Given the description of an element on the screen output the (x, y) to click on. 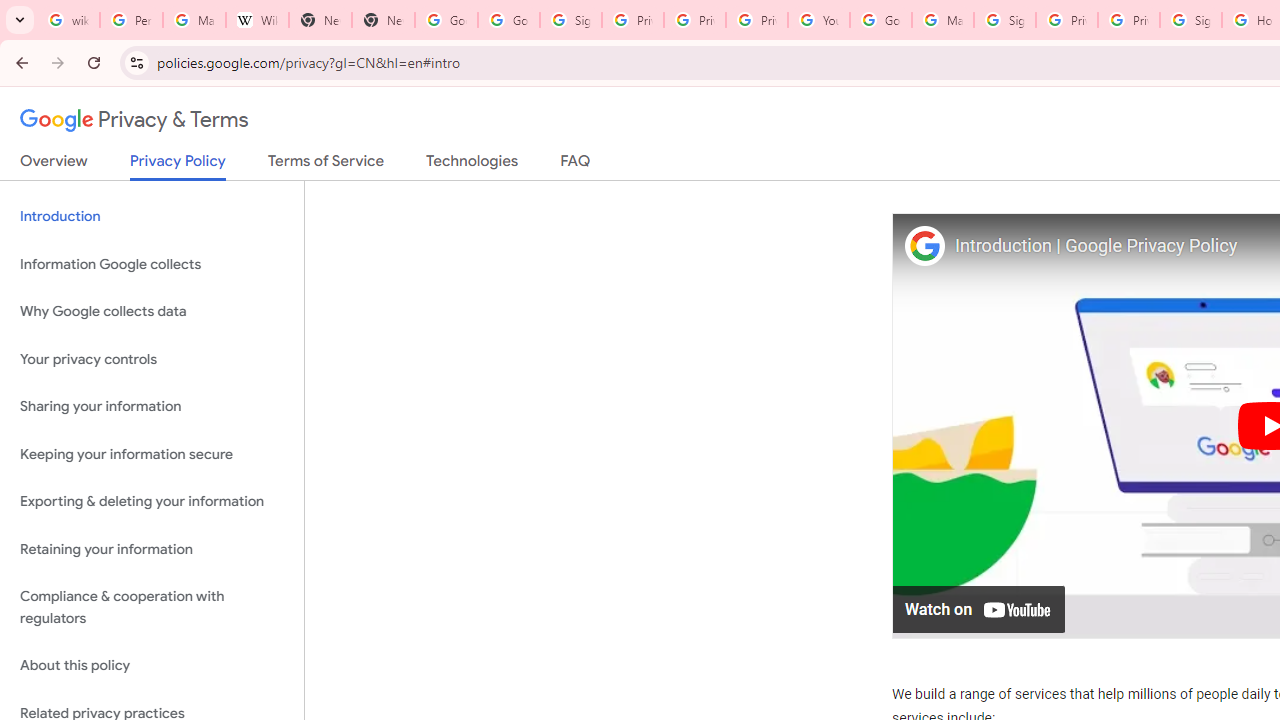
Your privacy controls (152, 358)
Sharing your information (152, 407)
Google Account Help (880, 20)
Technologies (472, 165)
Photo image of Google (924, 244)
Information Google collects (152, 263)
New Tab (383, 20)
Sign in - Google Accounts (570, 20)
Google Drive: Sign-in (508, 20)
Wikipedia:Edit requests - Wikipedia (257, 20)
Personalization & Google Search results - Google Search Help (130, 20)
New Tab (320, 20)
